Given the description of an element on the screen output the (x, y) to click on. 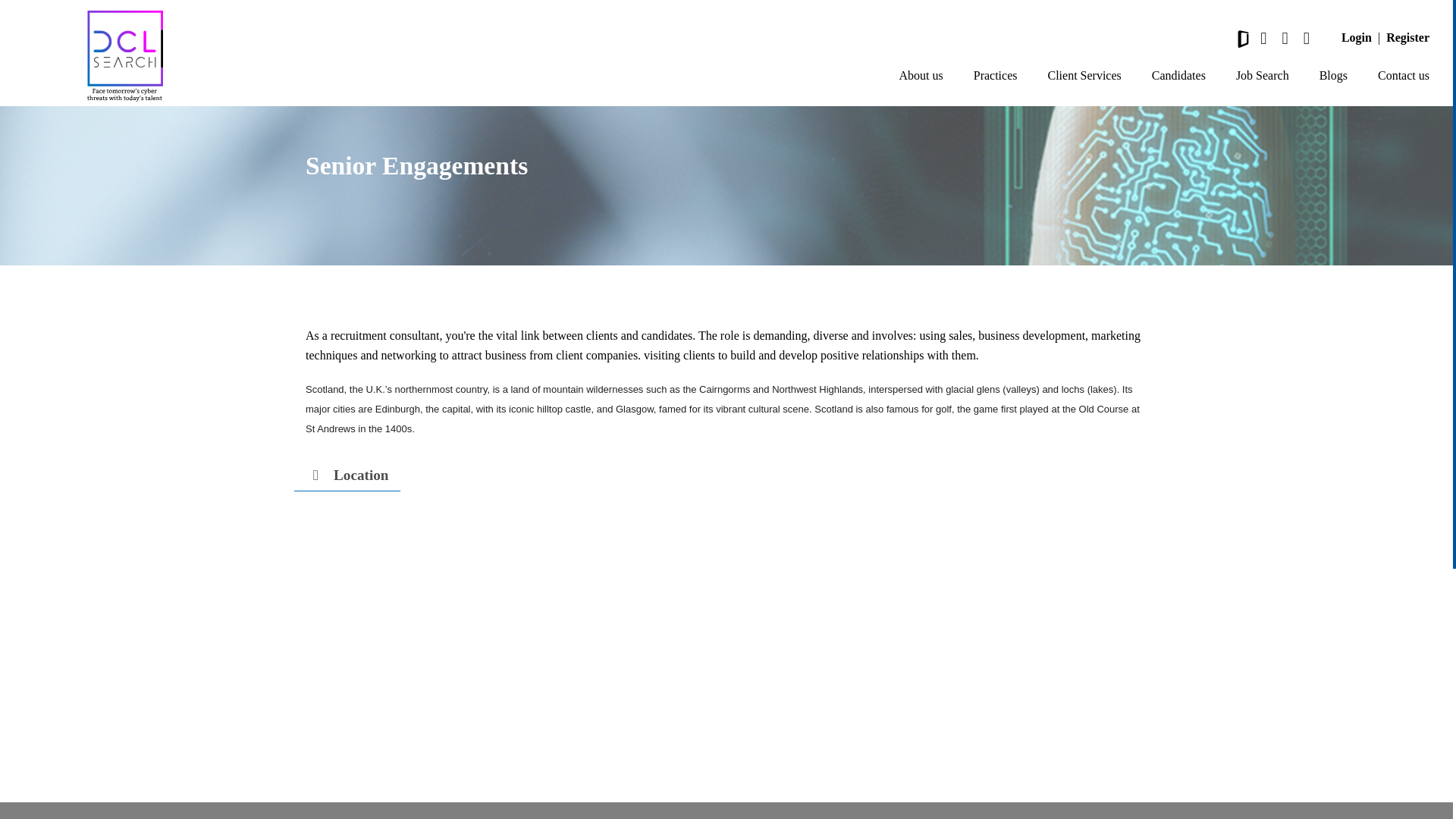
Contact us (1403, 75)
About us (921, 75)
Candidates (1178, 75)
Register (1407, 37)
Client Services (1083, 75)
Job Search (1262, 75)
DCL (124, 55)
Practices (995, 75)
